Given the description of an element on the screen output the (x, y) to click on. 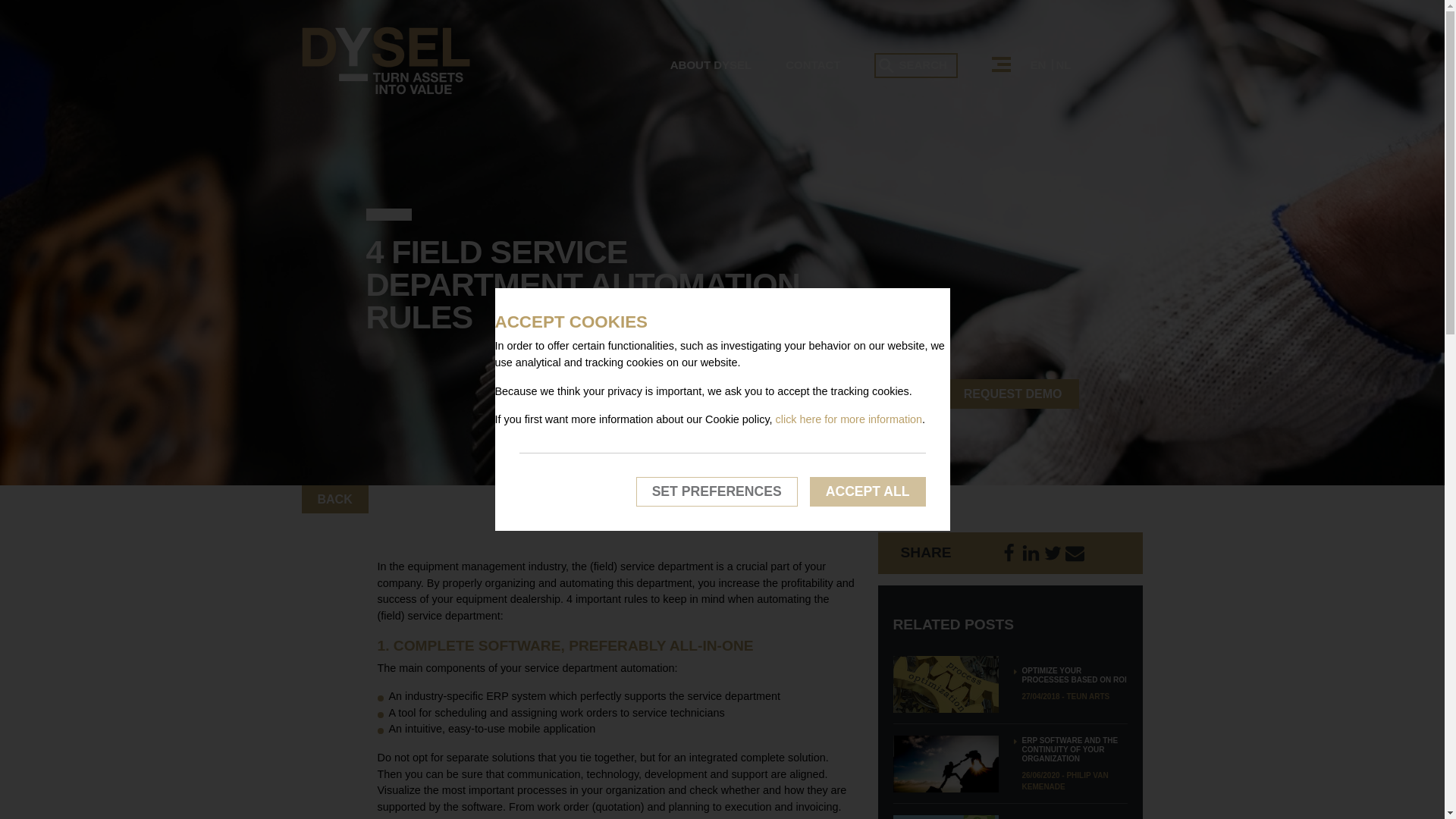
ABOUT DYSEL (710, 64)
EN (1040, 64)
CONTACT (813, 64)
BACK (334, 499)
CONTACT US (880, 393)
REQUEST DEMO (1012, 393)
NL (1062, 64)
MORE INFORMATION (734, 393)
